Given the description of an element on the screen output the (x, y) to click on. 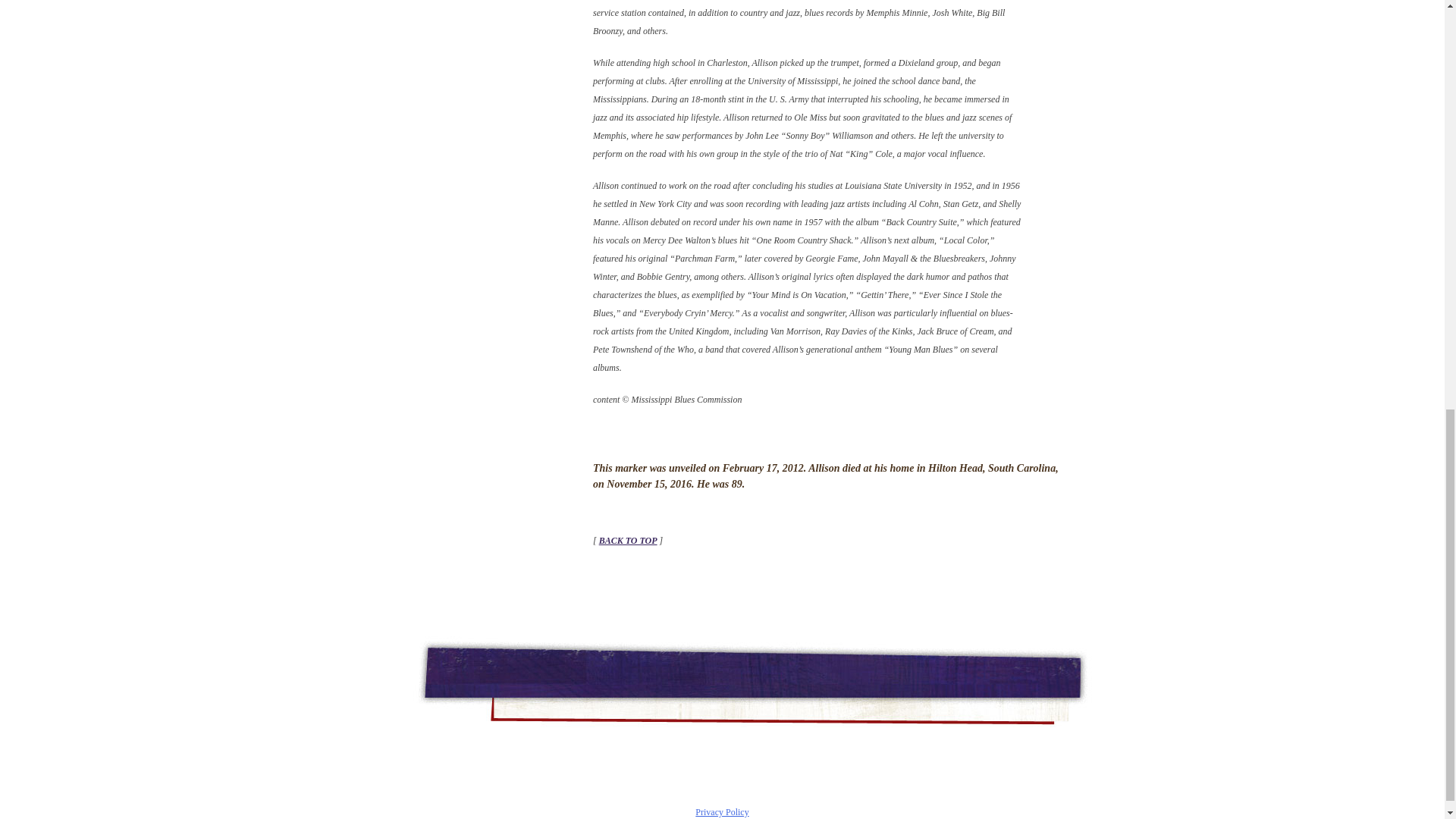
BACK TO TOP (628, 540)
Privacy Policy (721, 811)
